Given the description of an element on the screen output the (x, y) to click on. 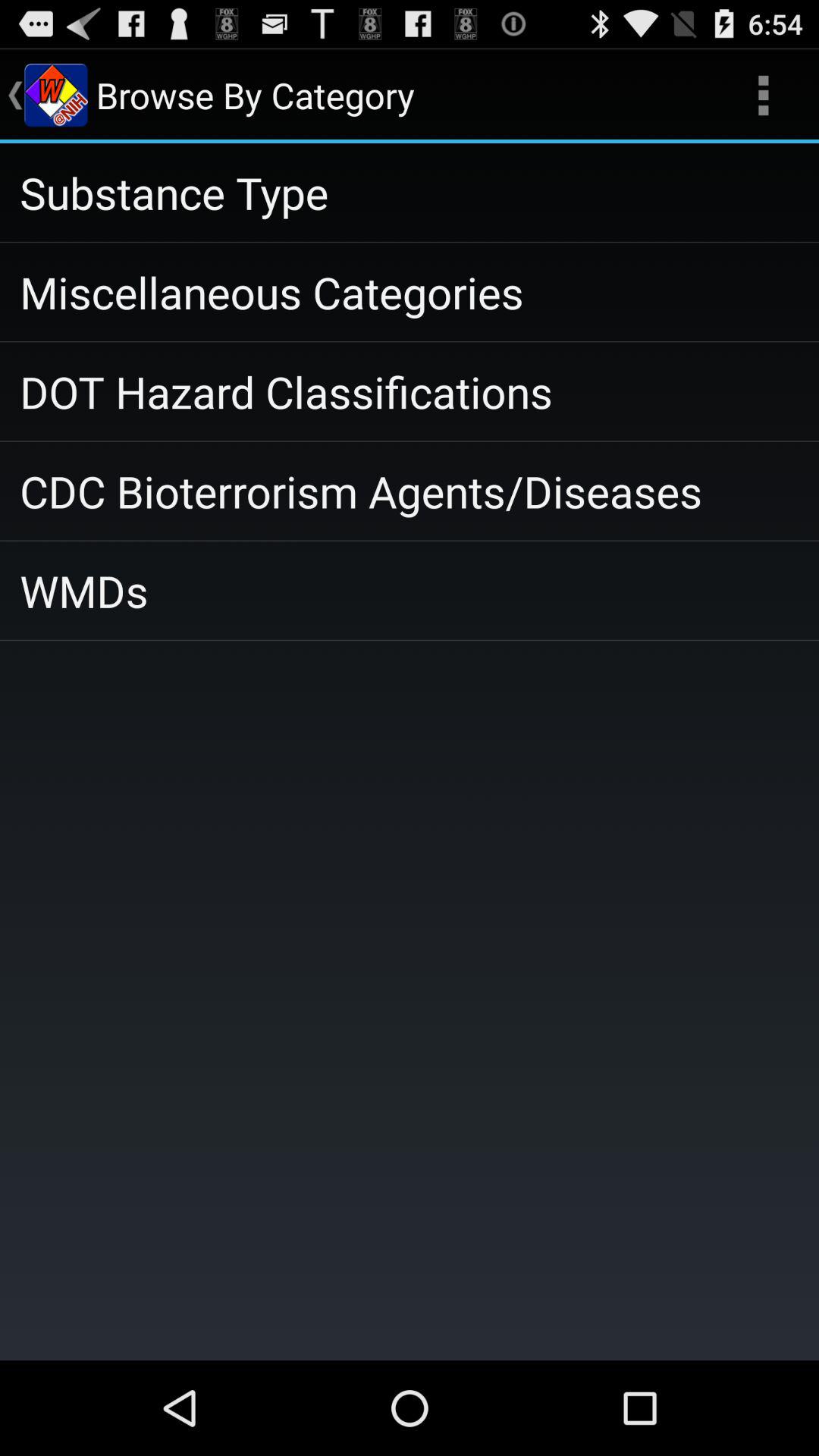
select substance type app (409, 192)
